Given the description of an element on the screen output the (x, y) to click on. 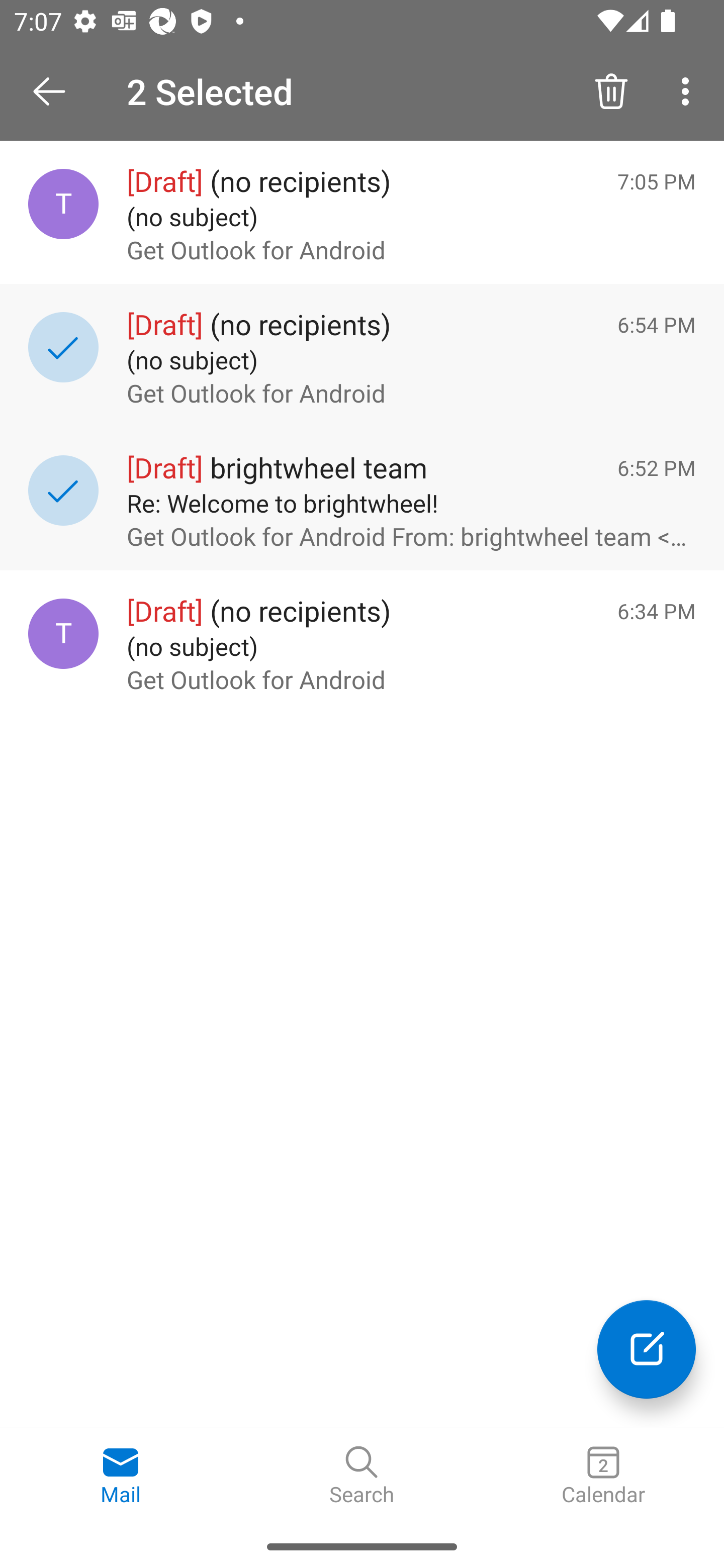
Delete (611, 90)
More options (688, 90)
Open Navigation Drawer (55, 91)
testappium001@outlook.com (63, 204)
testappium001@outlook.com (63, 633)
Compose (646, 1348)
Search (361, 1475)
Calendar (603, 1475)
